Given the description of an element on the screen output the (x, y) to click on. 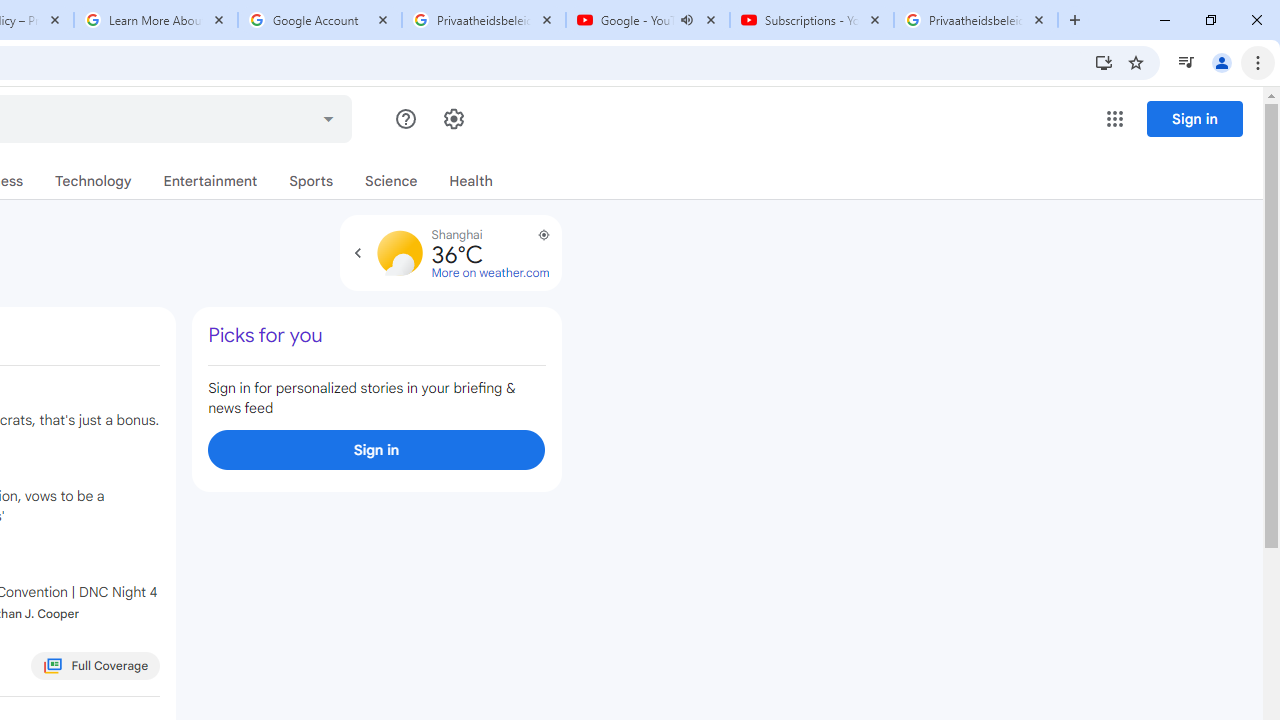
Use precise location (533, 242)
Advanced search (327, 115)
Google - YouTube - Audio playing (647, 20)
Expand to view forecast (357, 252)
Google Account (319, 20)
